Given the description of an element on the screen output the (x, y) to click on. 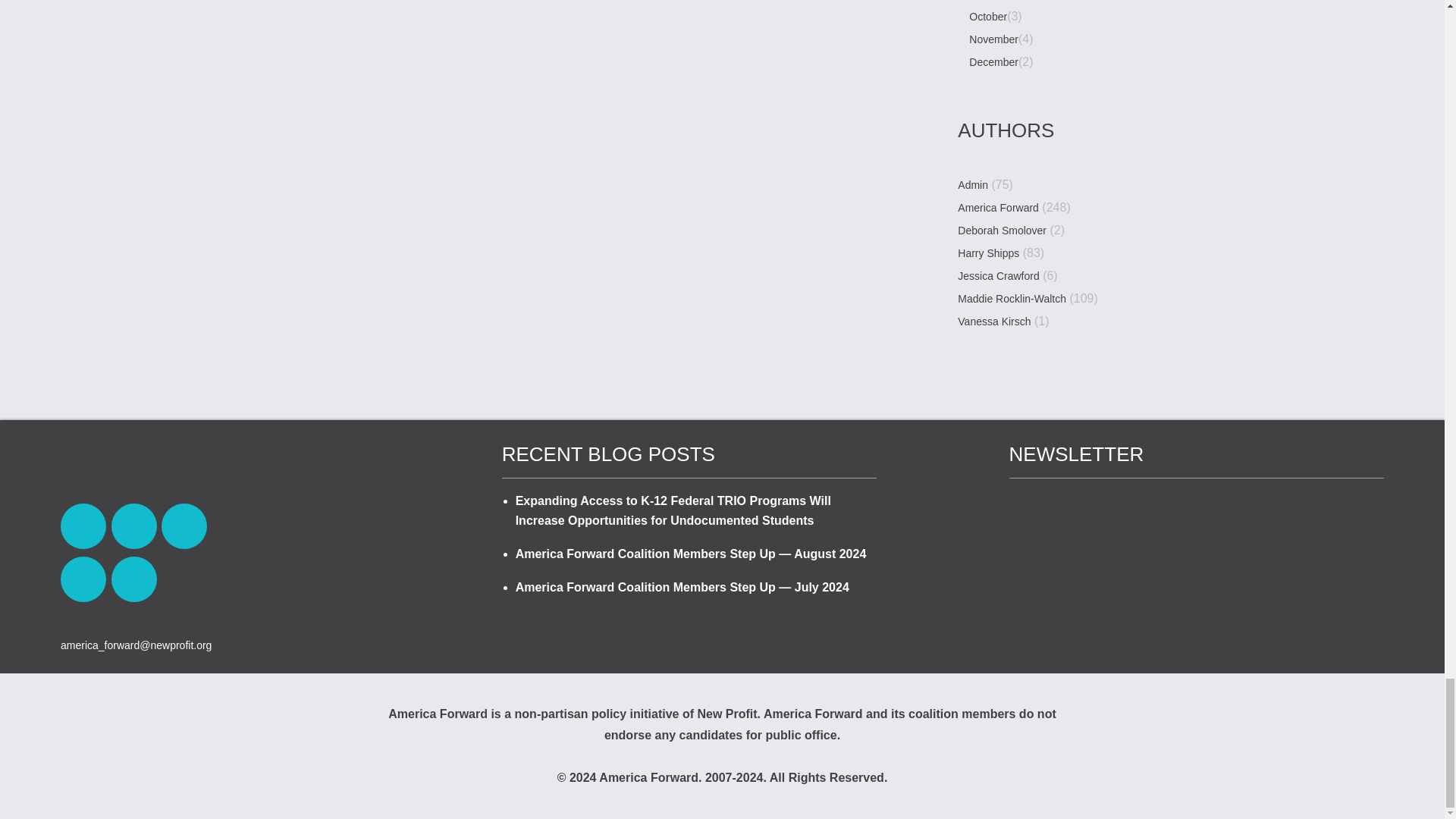
Posts by America Forward (998, 208)
Posts by Harry Shipps (988, 253)
Posts by Vanessa Kirsch (994, 322)
Posts by Maddie Rocklin-Waltch (1011, 299)
Posts by Jessica Crawford (998, 276)
Posts by Deborah Smolover (1002, 231)
Posts by Admin (973, 185)
